Given the description of an element on the screen output the (x, y) to click on. 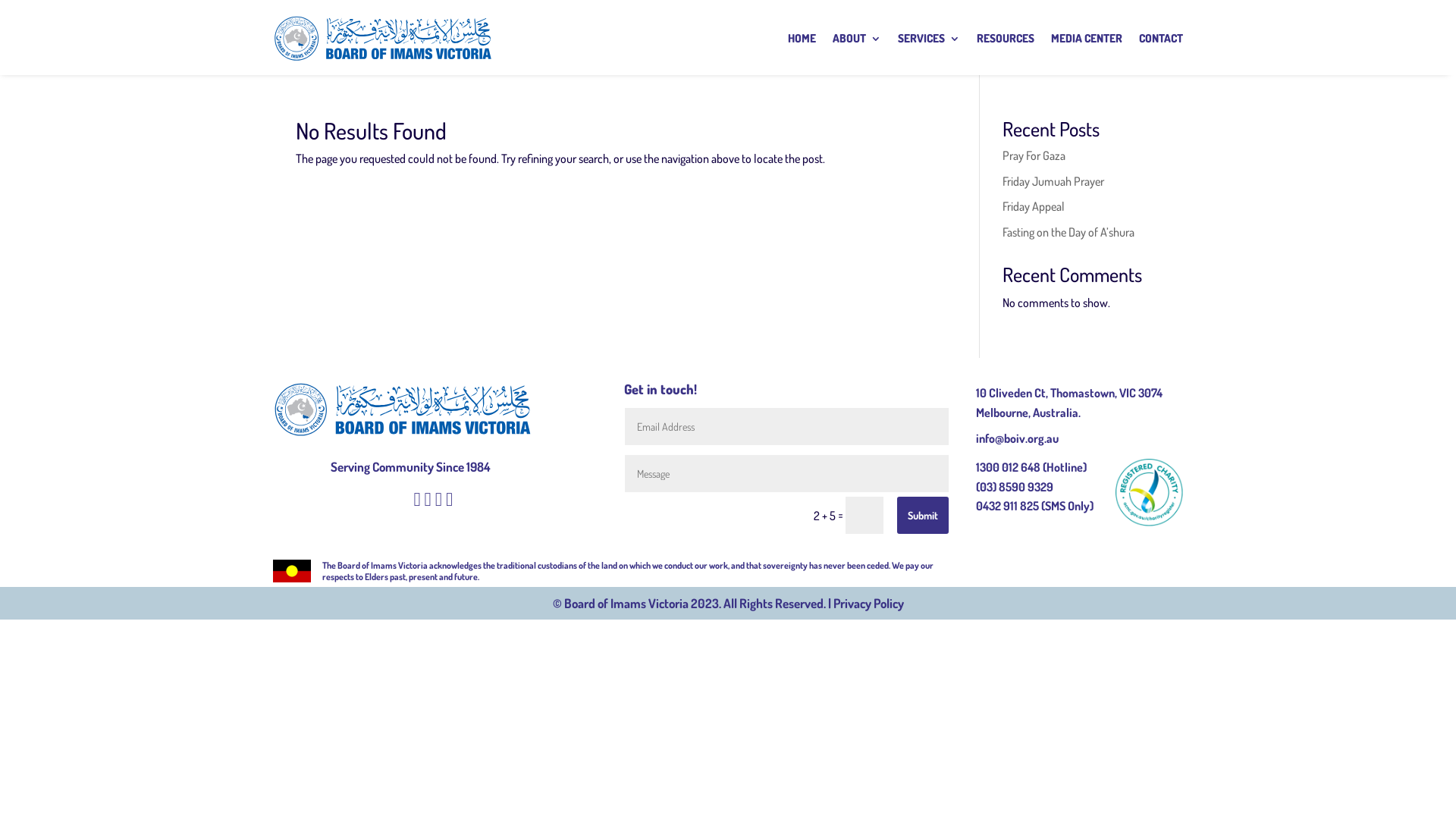
RESOURCES Element type: text (1005, 38)
Submit Element type: text (922, 514)
SERVICES Element type: text (928, 38)
BOARD-OF-IMAMS-VIC-SIGNBOARD-18Apr2016-2 Element type: hover (402, 409)
MEDIA CENTER Element type: text (1086, 38)
BOIV_1 Element type: hover (1148, 492)
HOME Element type: text (801, 38)
ABOUT Element type: text (856, 38)
CONTACT Element type: text (1161, 38)
Privacy Policy Element type: text (867, 603)
Friday Jumuah Prayer Element type: text (1053, 180)
Pray For Gaza Element type: text (1033, 155)
Friday Appeal Element type: text (1033, 205)
